Given the description of an element on the screen output the (x, y) to click on. 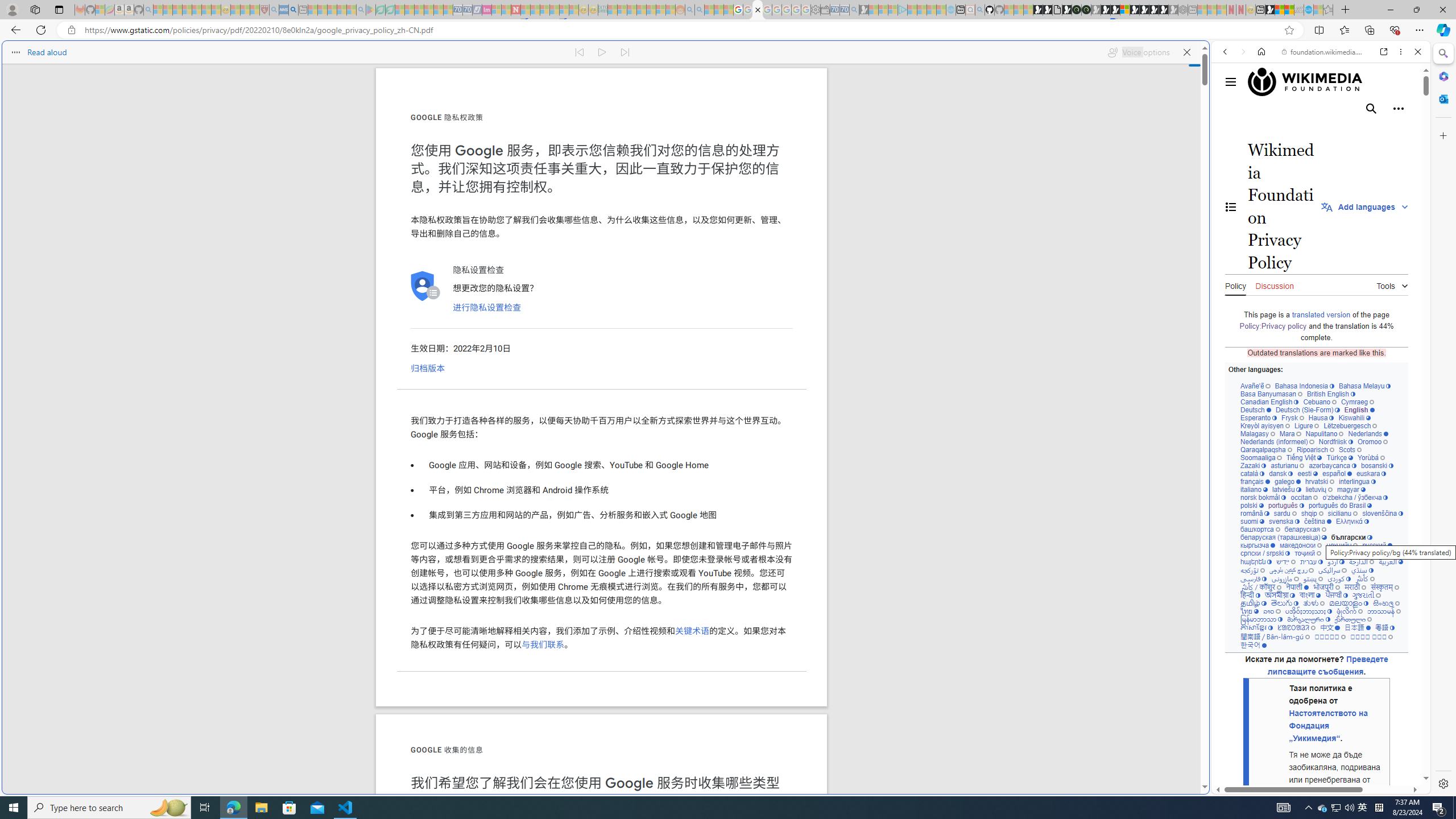
Oromoo (1372, 441)
Deutsch (Sie-Form) (1307, 409)
magyar (1350, 488)
Discussion (1274, 284)
